Given the description of an element on the screen output the (x, y) to click on. 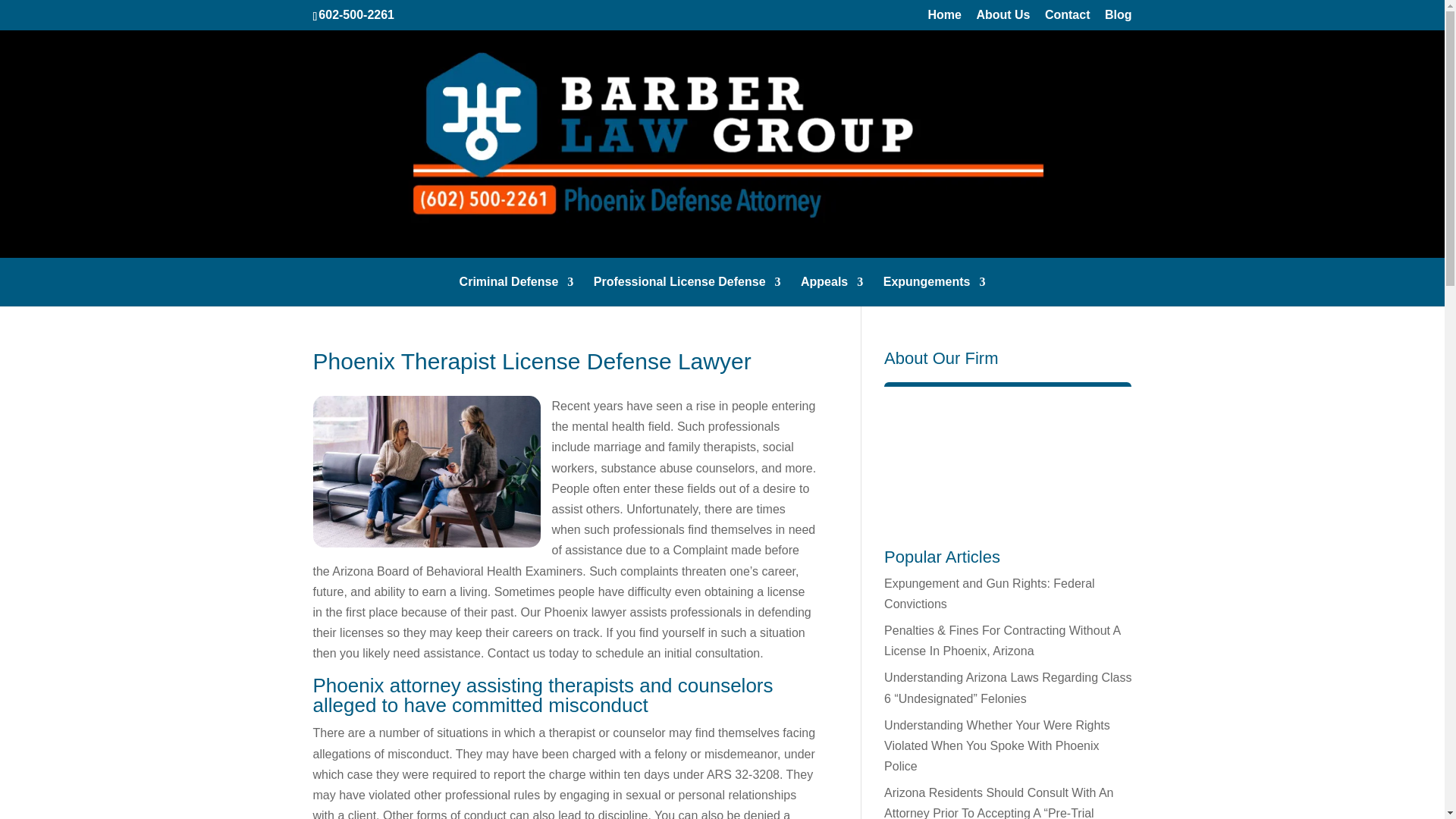
Professional License Defense (687, 291)
Blog (1118, 19)
The Barber Law Group (1007, 456)
602-500-2261 (356, 14)
Criminal Defense (516, 291)
About Us (1002, 19)
Appeals (831, 291)
Home (943, 19)
Contact (1067, 19)
